Given the description of an element on the screen output the (x, y) to click on. 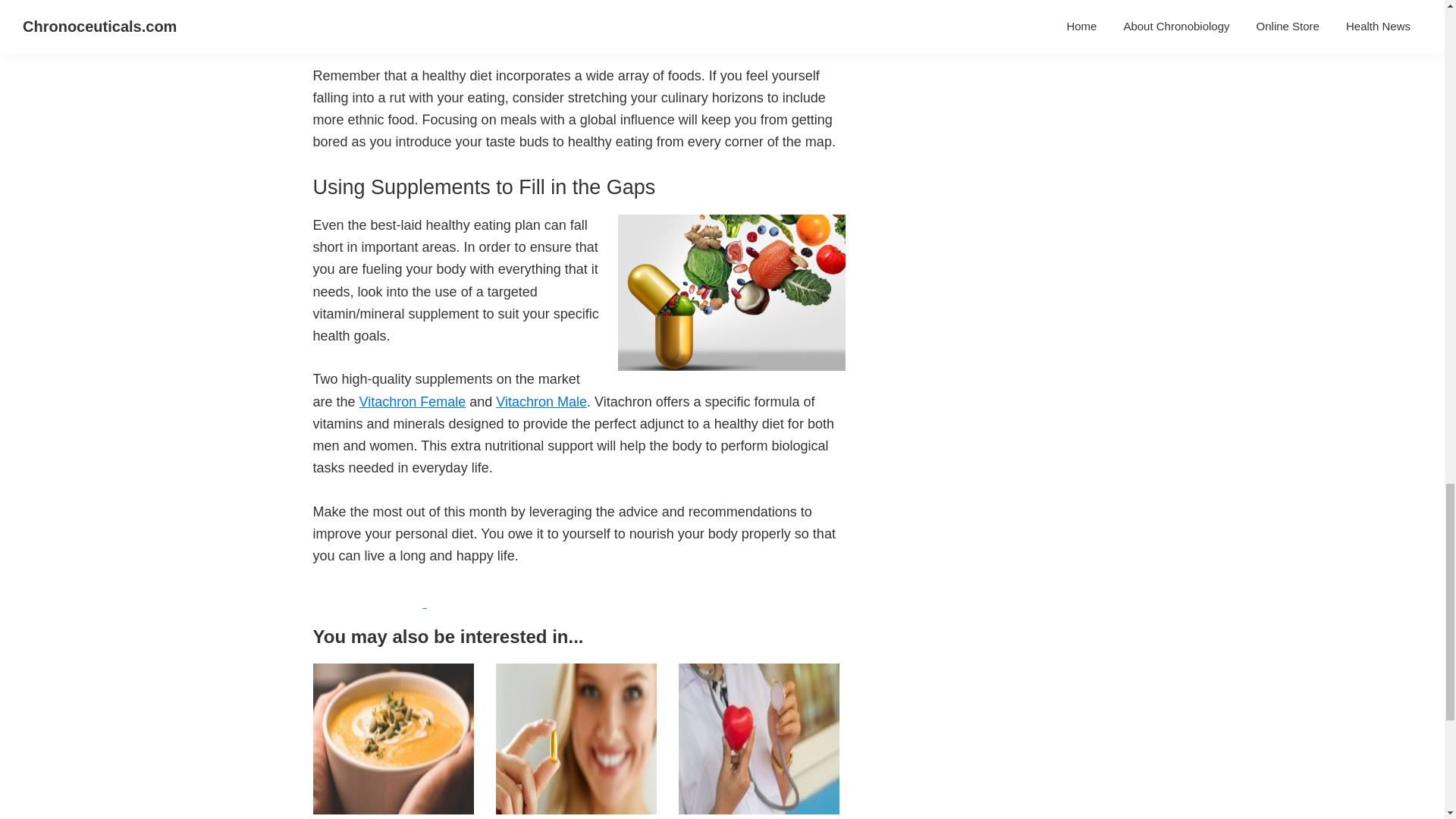
Vitachron Female (412, 401)
Vitachron Male (541, 401)
